Given the description of an element on the screen output the (x, y) to click on. 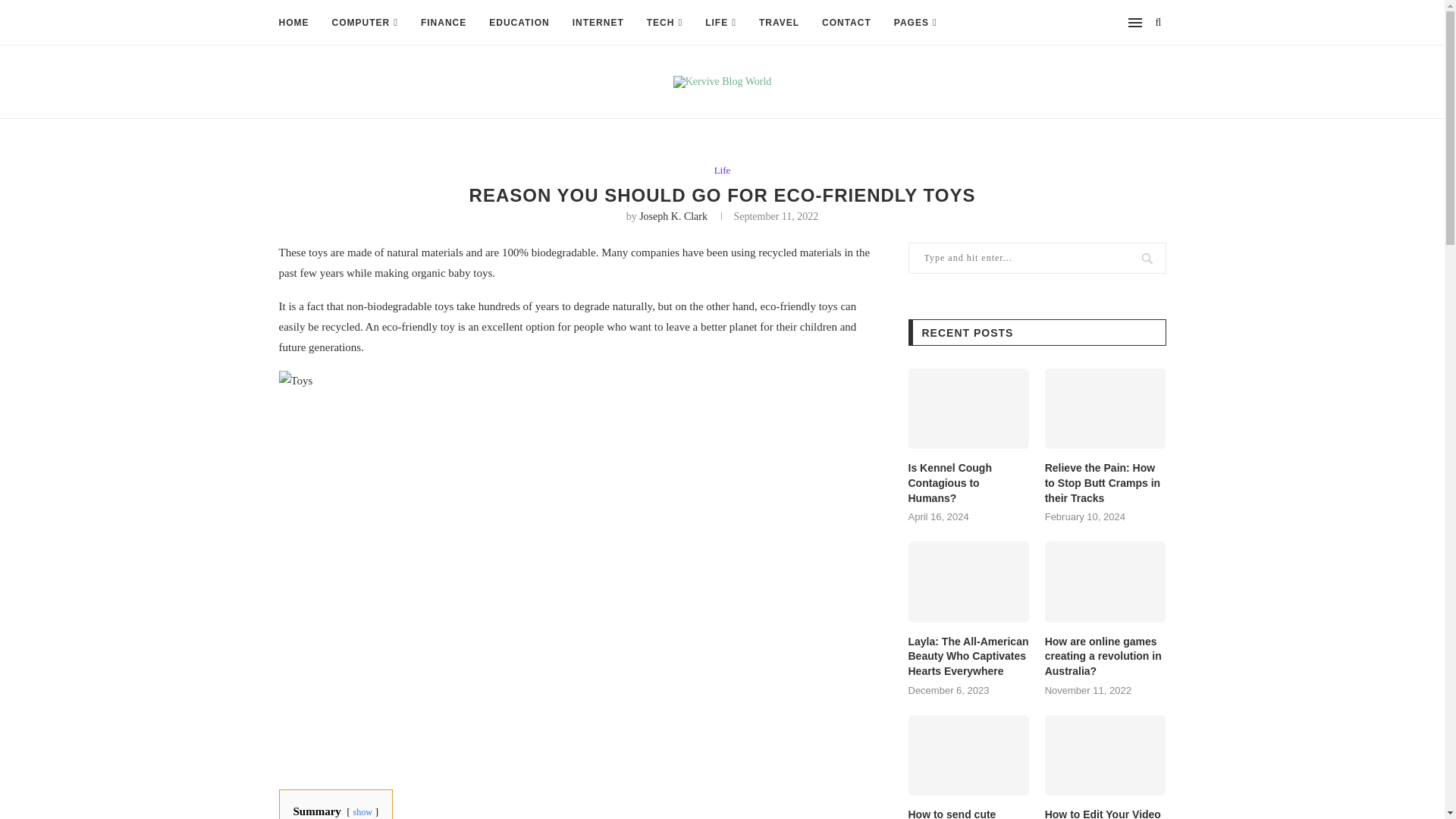
TECH (664, 22)
COMPUTER (364, 22)
EDUCATION (518, 22)
FINANCE (442, 22)
HOME (293, 22)
INTERNET (598, 22)
